Given the description of an element on the screen output the (x, y) to click on. 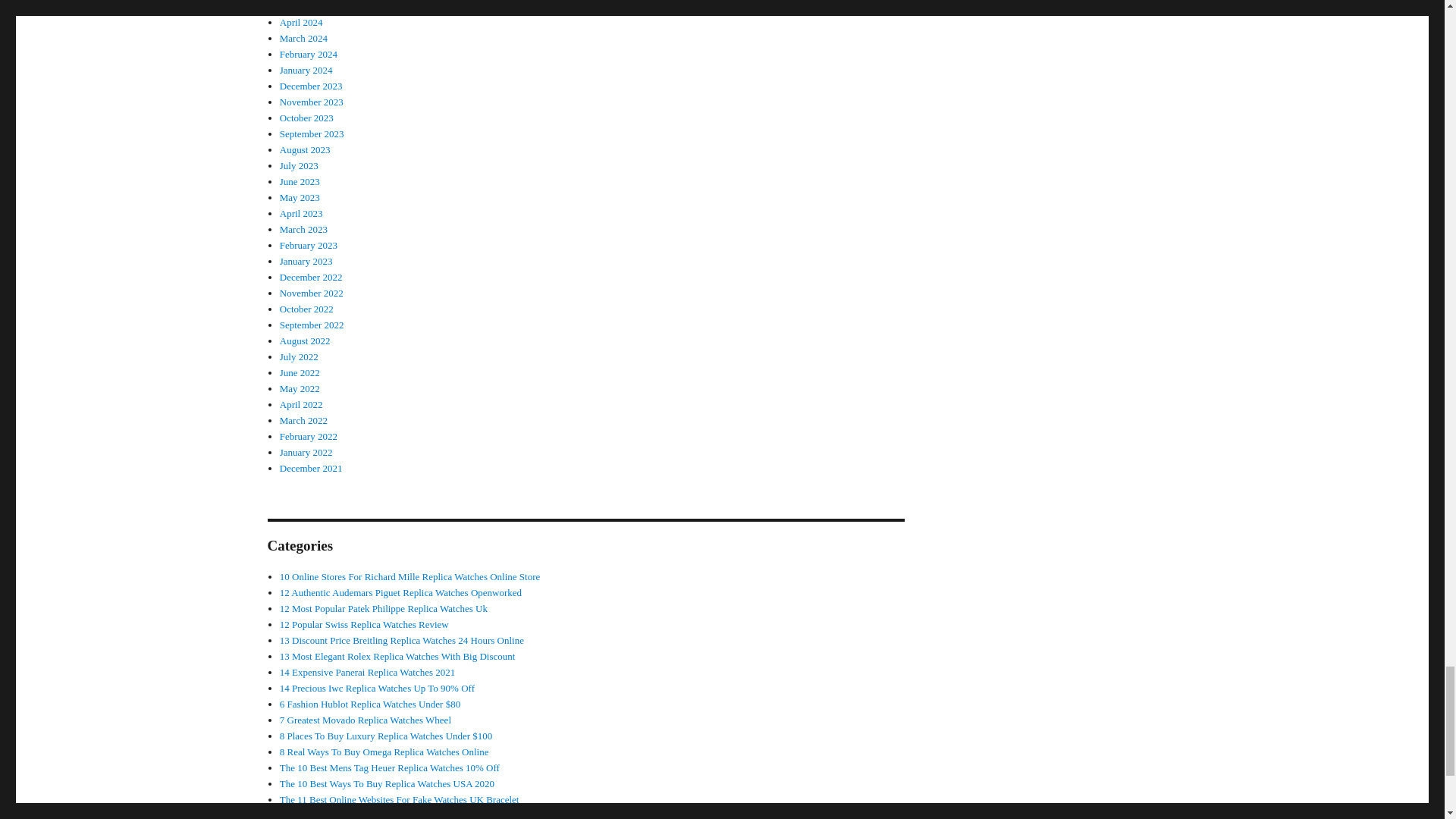
May 2023 (299, 197)
March 2023 (303, 229)
February 2024 (308, 53)
February 2023 (308, 244)
September 2022 (311, 324)
May 2024 (299, 6)
November 2022 (311, 292)
October 2023 (306, 117)
April 2024 (301, 21)
December 2023 (310, 85)
January 2023 (306, 260)
October 2022 (306, 308)
November 2023 (311, 101)
April 2023 (301, 213)
July 2023 (298, 165)
